Given the description of an element on the screen output the (x, y) to click on. 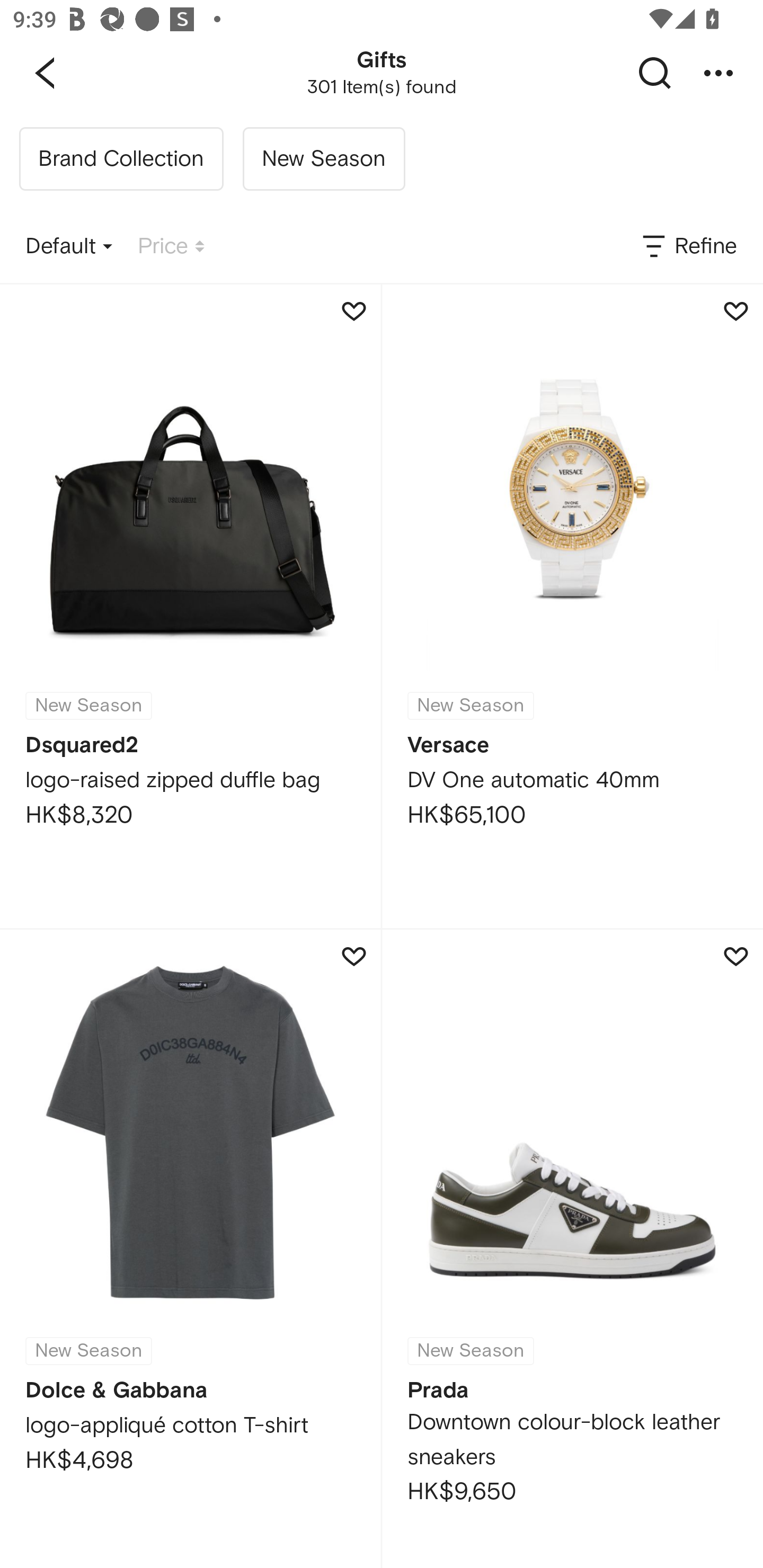
Brand Collection (121, 158)
New Season (323, 158)
Default (68, 246)
Price (171, 246)
Refine (688, 246)
New Season Versace DV One automatic 40mm HK$65,100 (572, 605)
